Given the description of an element on the screen output the (x, y) to click on. 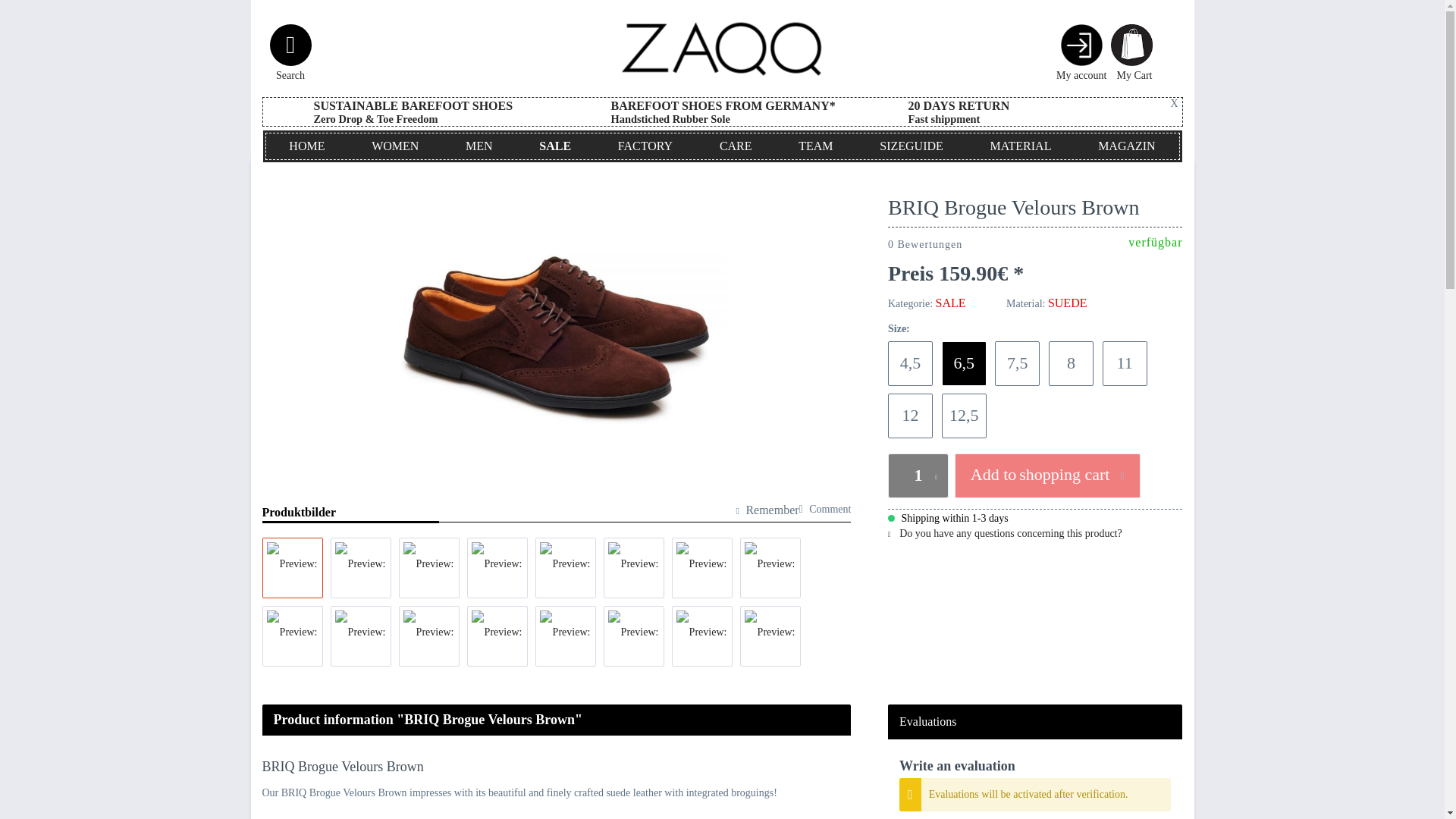
Handmade Barefoot Shoes from Germany - Switch to homepage (722, 48)
MATERIAL (1020, 145)
WOMEN (394, 145)
CARE (734, 145)
SALE (554, 145)
Search (290, 53)
MEN (478, 145)
SIZEGUIDE (911, 145)
MAGAZIN (1125, 145)
HOME (305, 145)
